Given the description of an element on the screen output the (x, y) to click on. 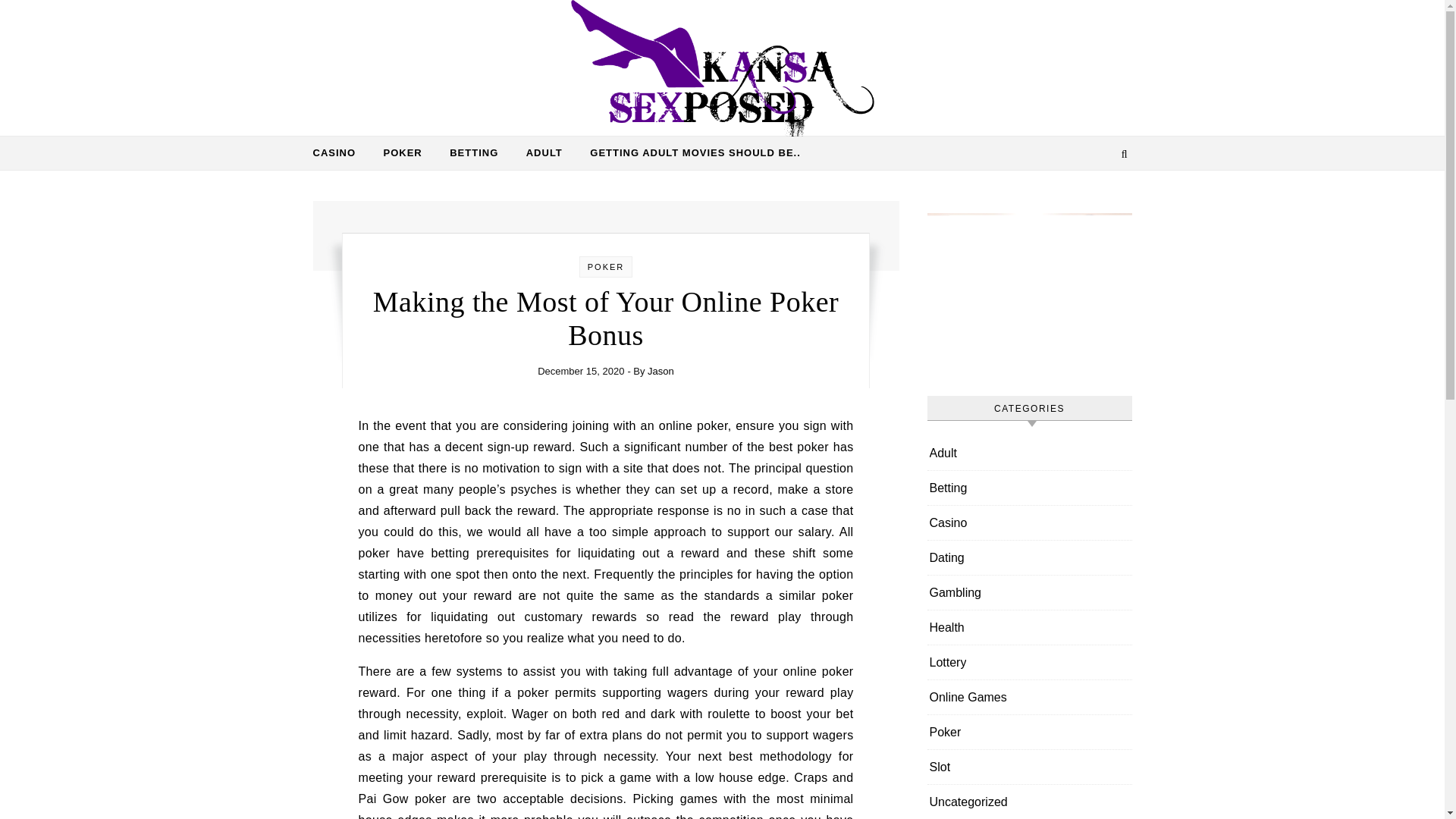
ADULT (544, 152)
BETTING (474, 152)
POKER (606, 266)
Gambling (955, 592)
Betting (949, 487)
POKER (402, 152)
Health (946, 627)
Jason (660, 370)
Uncategorized (968, 801)
Online Games (968, 697)
